Given the description of an element on the screen output the (x, y) to click on. 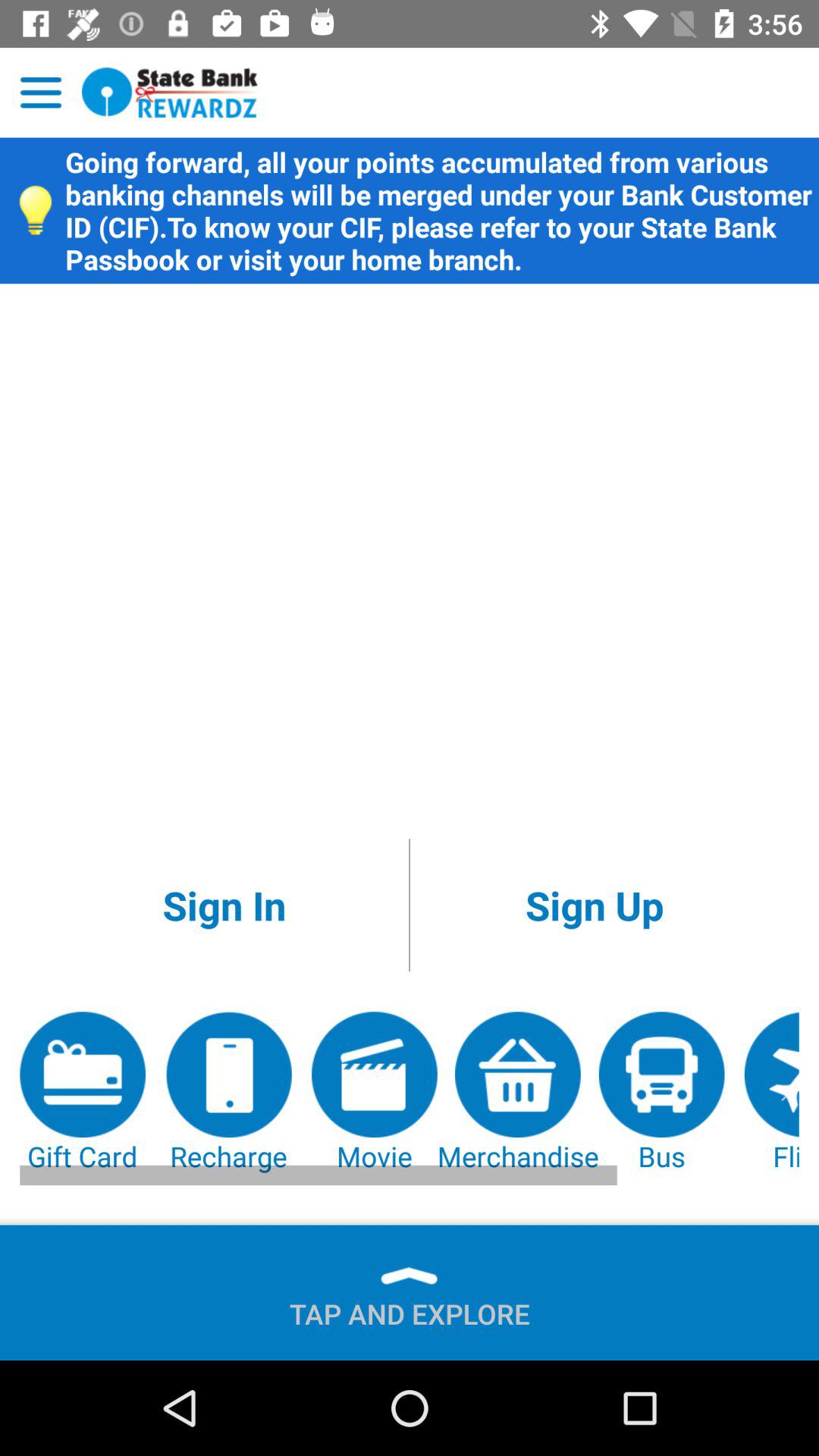
turn on gift card app (82, 1093)
